Given the description of an element on the screen output the (x, y) to click on. 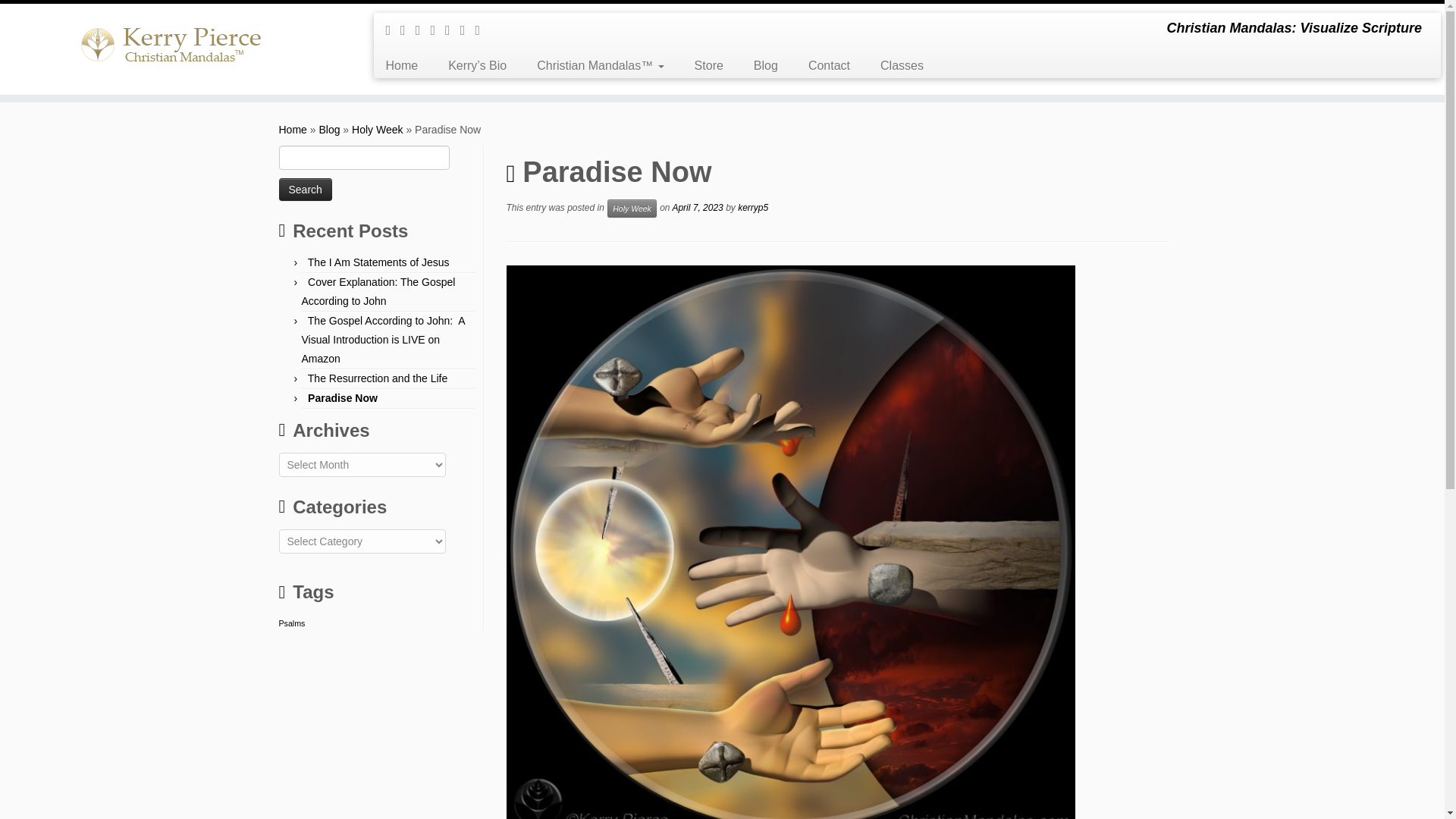
Blog (328, 129)
Psalms (292, 623)
Paradise Now (342, 398)
Search (305, 189)
Home (293, 129)
Contact (828, 65)
Holy Week (377, 129)
Holy Week (377, 129)
Subscribe to my rss feed (392, 29)
